Given the description of an element on the screen output the (x, y) to click on. 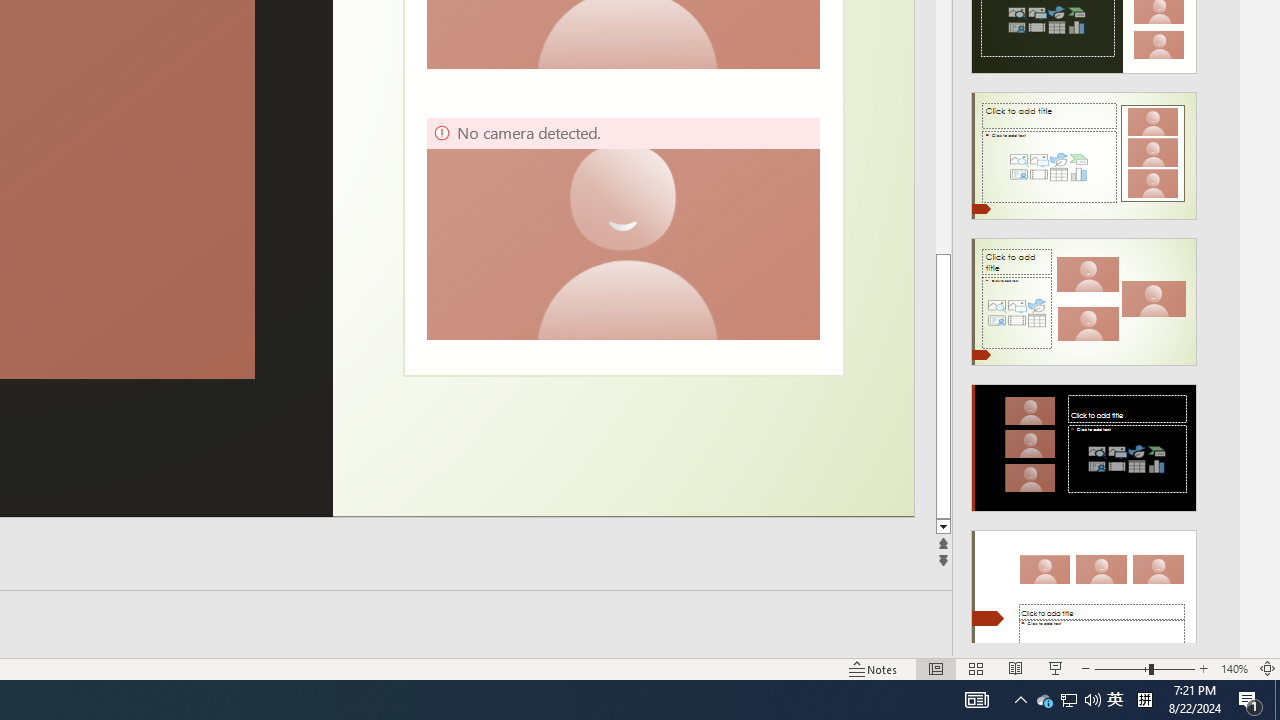
Camera 4, No camera detected. (622, 228)
Zoom 140% (1234, 668)
